Given the description of an element on the screen output the (x, y) to click on. 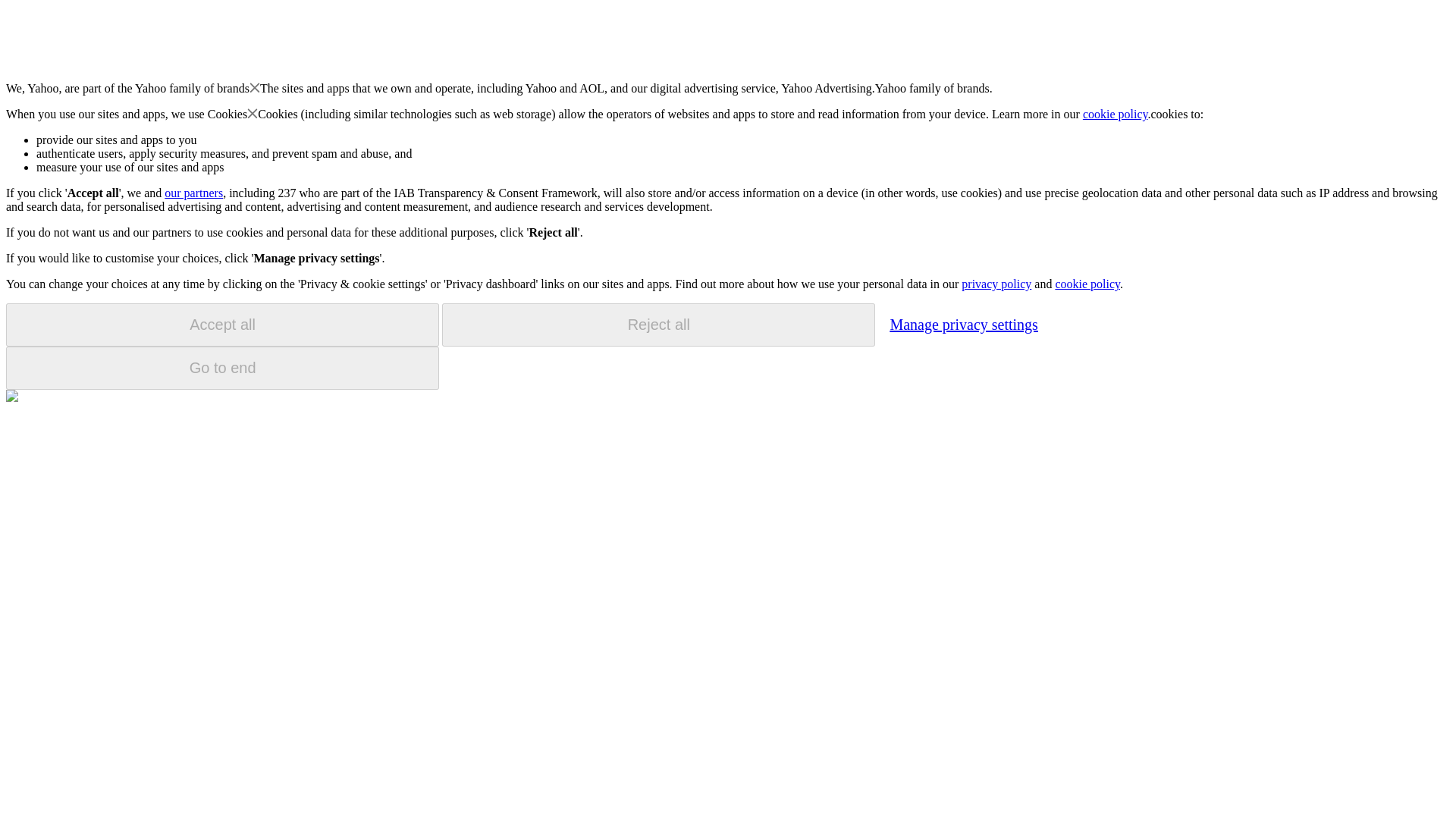
cookie policy (1086, 283)
cookie policy (1115, 113)
Accept all (222, 324)
our partners (193, 192)
Manage privacy settings (963, 323)
Go to end (222, 367)
Reject all (658, 324)
privacy policy (995, 283)
